Given the description of an element on the screen output the (x, y) to click on. 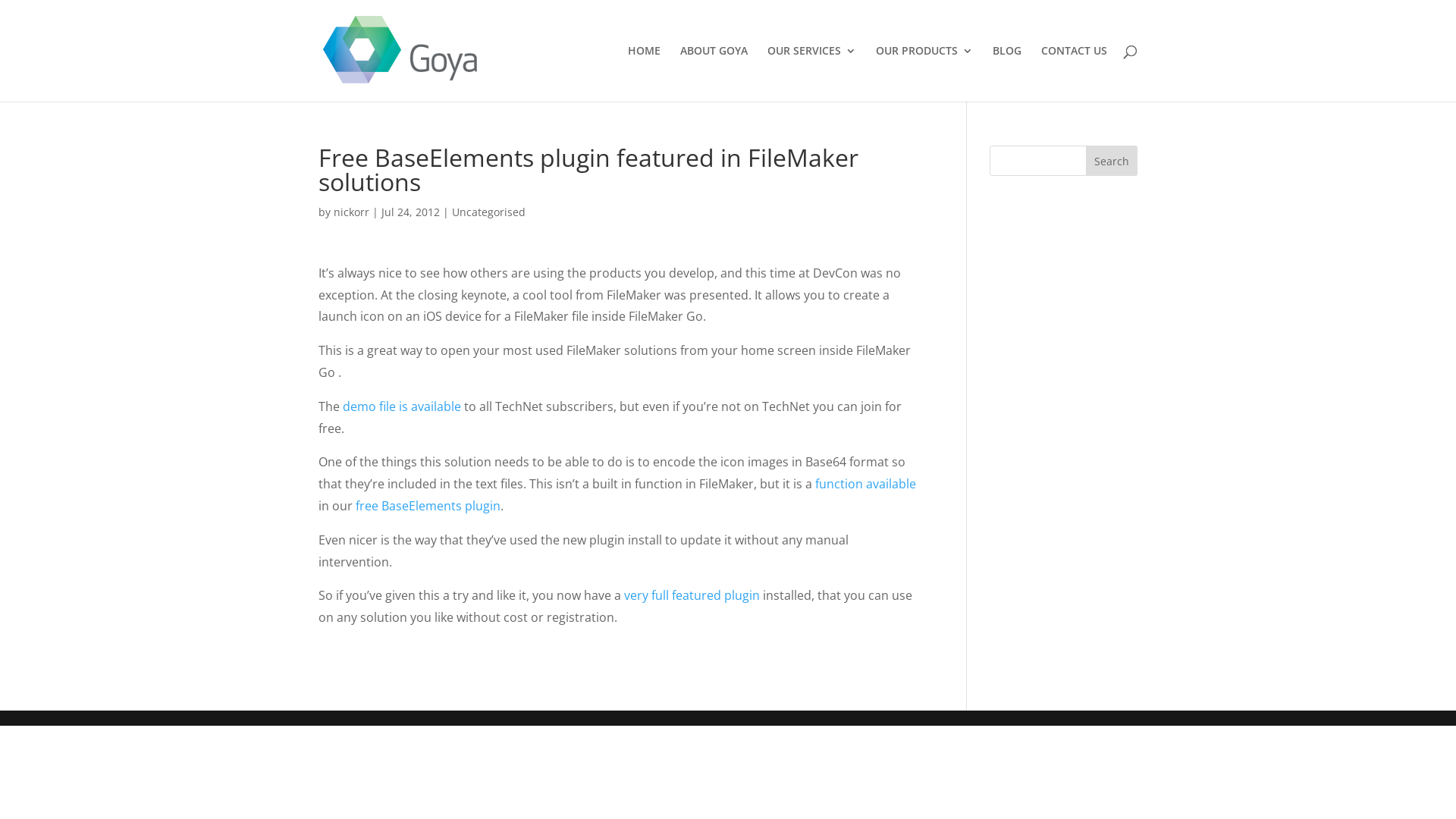
CONTACT US Element type: text (1074, 73)
free BaseElements plugin Element type: text (427, 505)
Search Element type: text (1111, 160)
BLOG Element type: text (1006, 73)
Uncategorised Element type: text (488, 211)
HOME Element type: text (643, 73)
very full featured plugin Element type: text (691, 594)
ABOUT GOYA Element type: text (713, 73)
demo file is available Element type: text (401, 406)
function available Element type: text (865, 483)
OUR PRODUCTS Element type: text (923, 73)
OUR SERVICES Element type: text (811, 73)
nickorr Element type: text (351, 211)
